Given the description of an element on the screen output the (x, y) to click on. 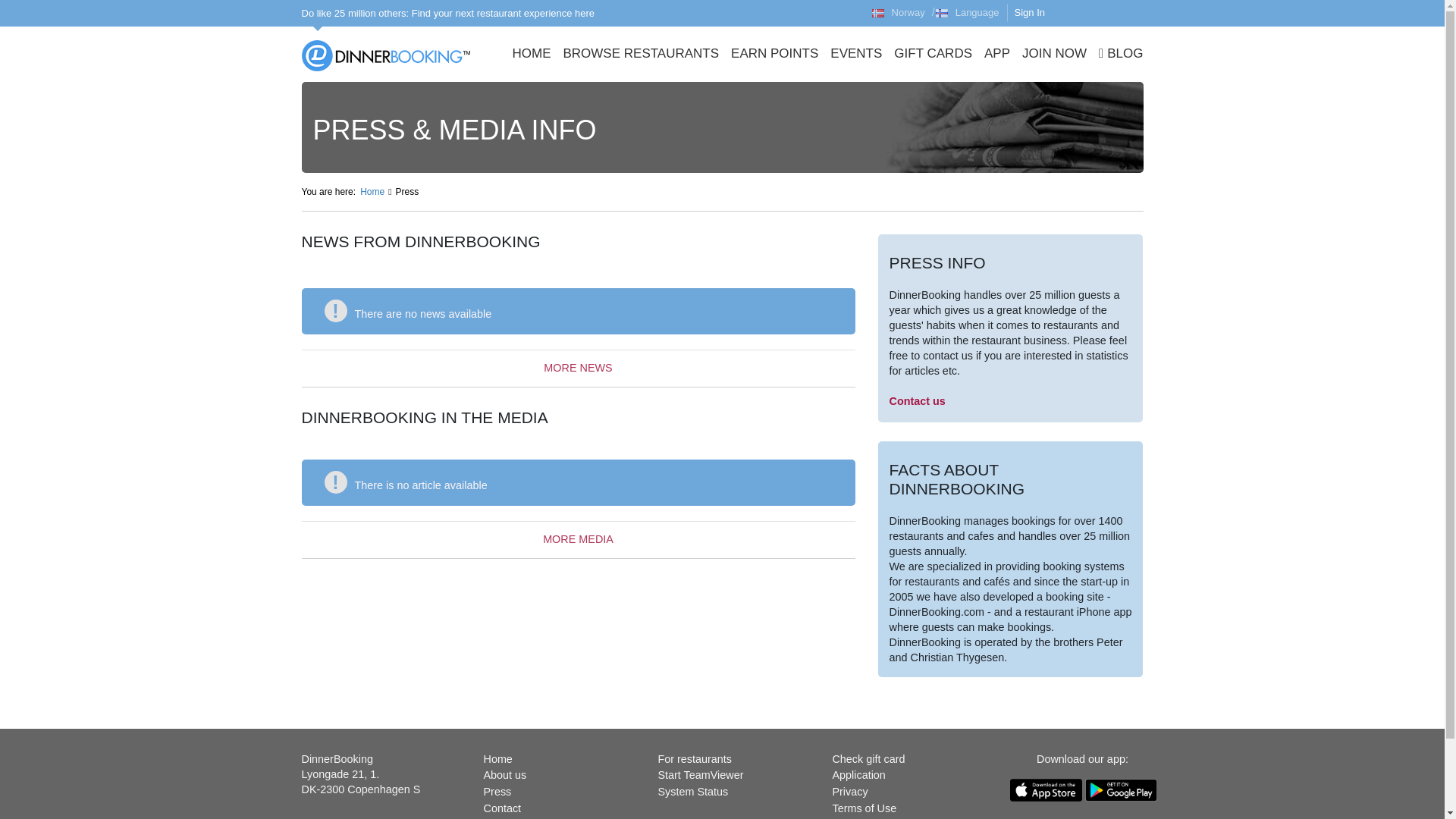
Language (970, 13)
Sign In (1045, 13)
HOME (530, 54)
BROWSE RESTAURANTS (640, 54)
Norway (898, 13)
